Given the description of an element on the screen output the (x, y) to click on. 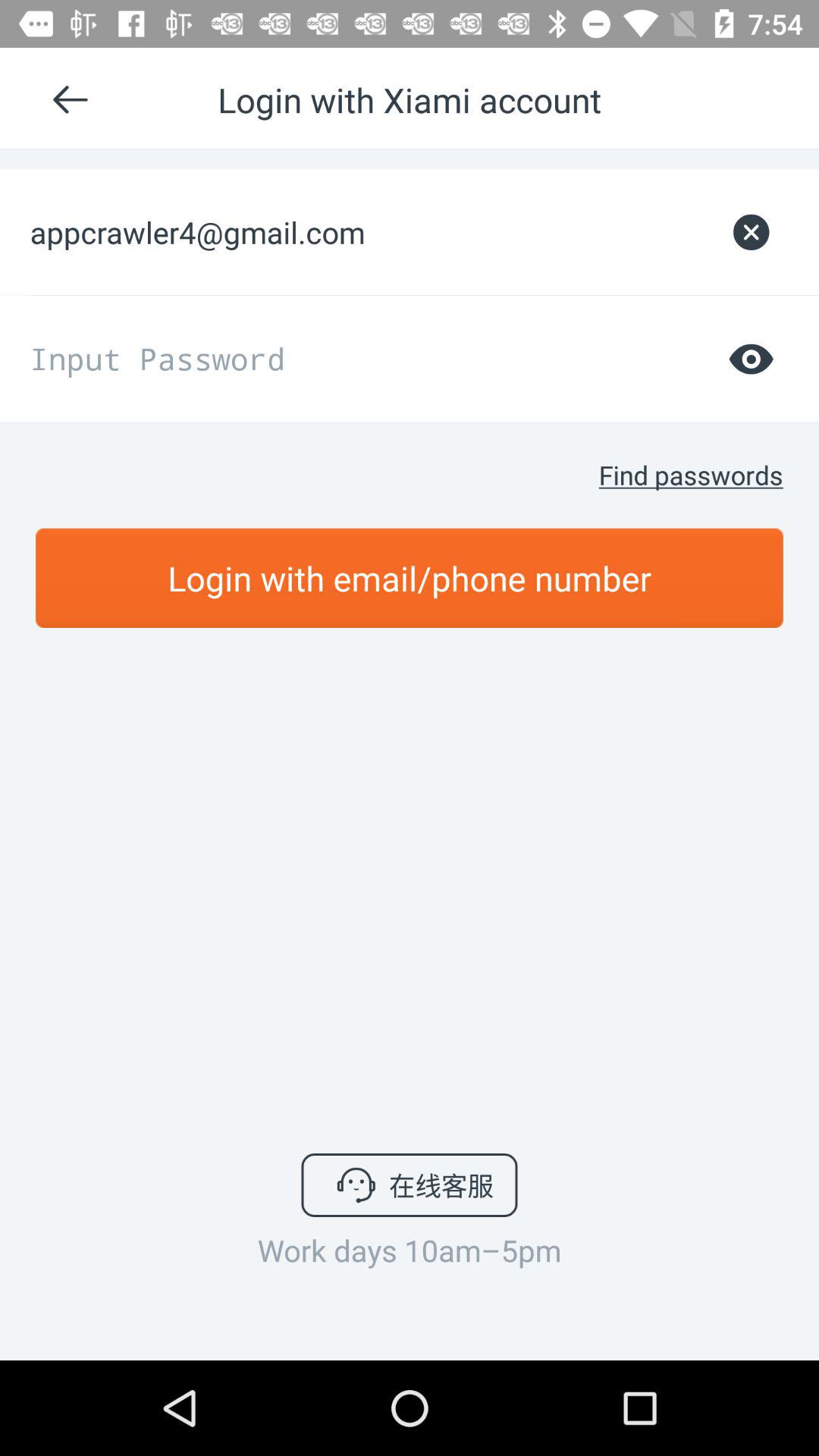
turn off icon next to the appcrawler4@gmail.com item (751, 231)
